Given the description of an element on the screen output the (x, y) to click on. 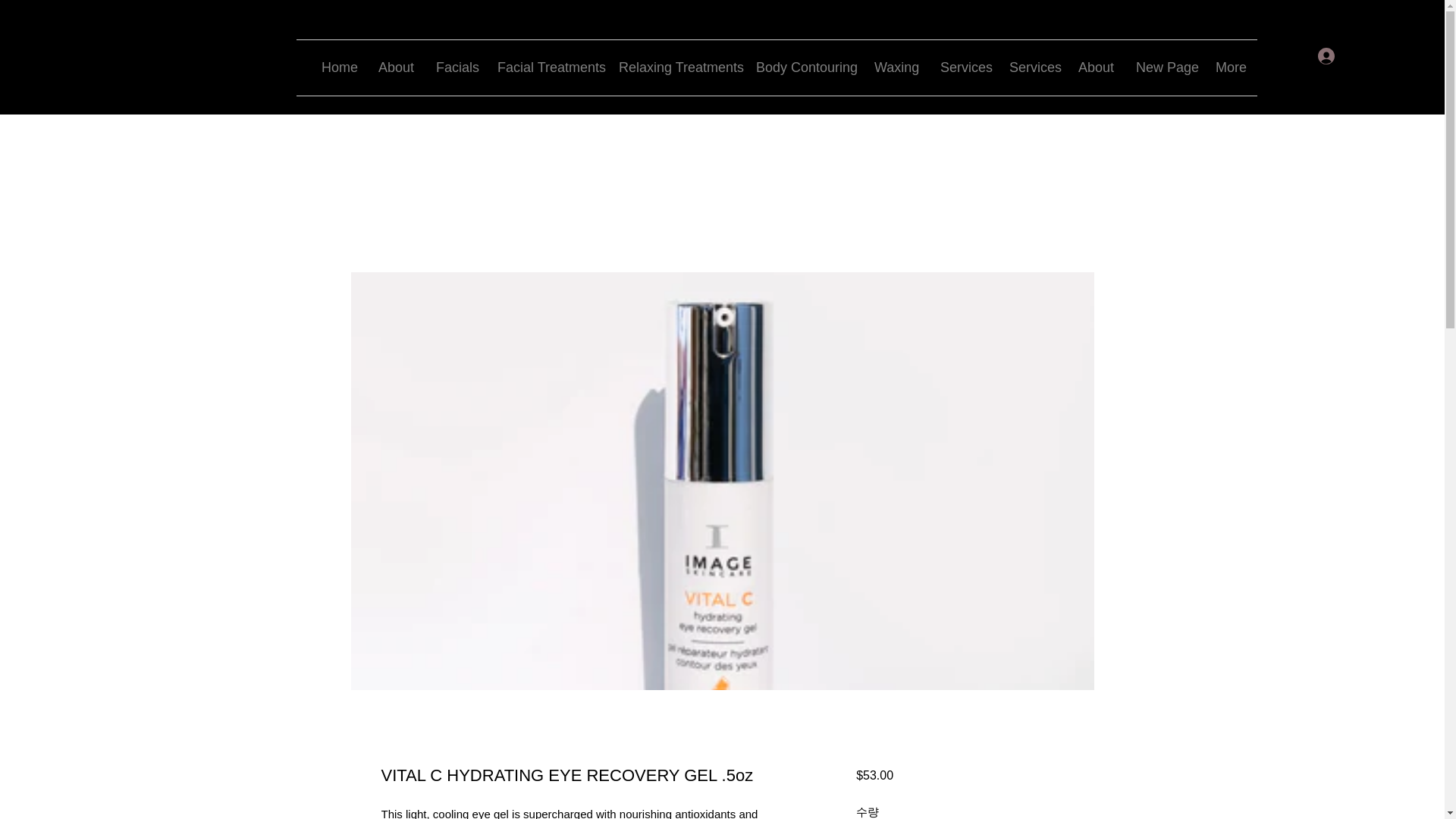
Facial Treatments (546, 67)
Waxing (895, 67)
Services (962, 67)
Home (338, 67)
New Page (1164, 67)
Body Contouring (803, 67)
About (395, 67)
About (1095, 67)
Relaxing Treatments (675, 67)
Services (1032, 67)
